Given the description of an element on the screen output the (x, y) to click on. 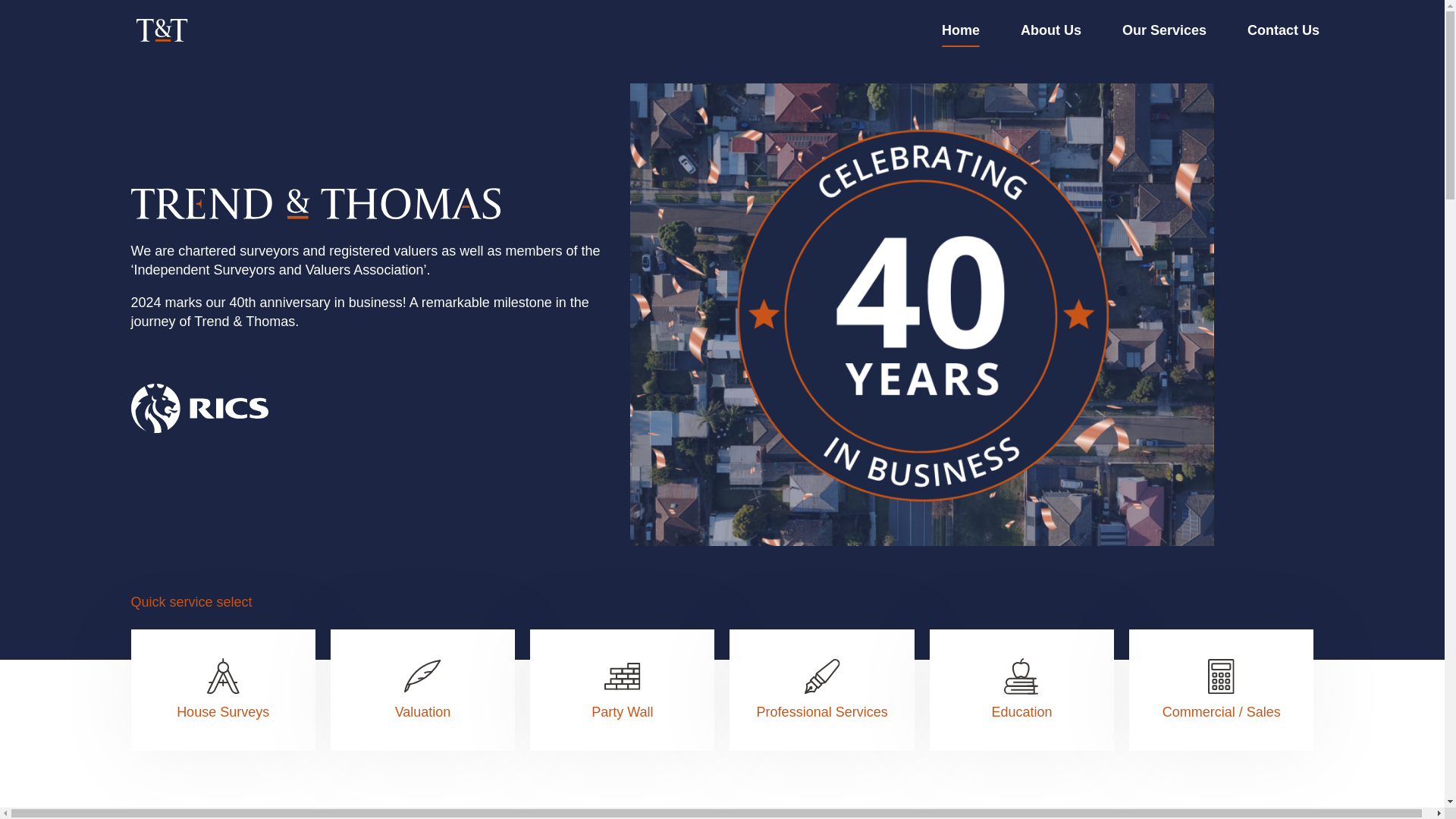
About Us (1050, 29)
House Surveys (222, 690)
Professional Services (821, 690)
Education (1021, 690)
Our Services (1164, 29)
Home (960, 29)
Party Wall (621, 690)
Contact Us (1283, 29)
Valuation (422, 690)
